Given the description of an element on the screen output the (x, y) to click on. 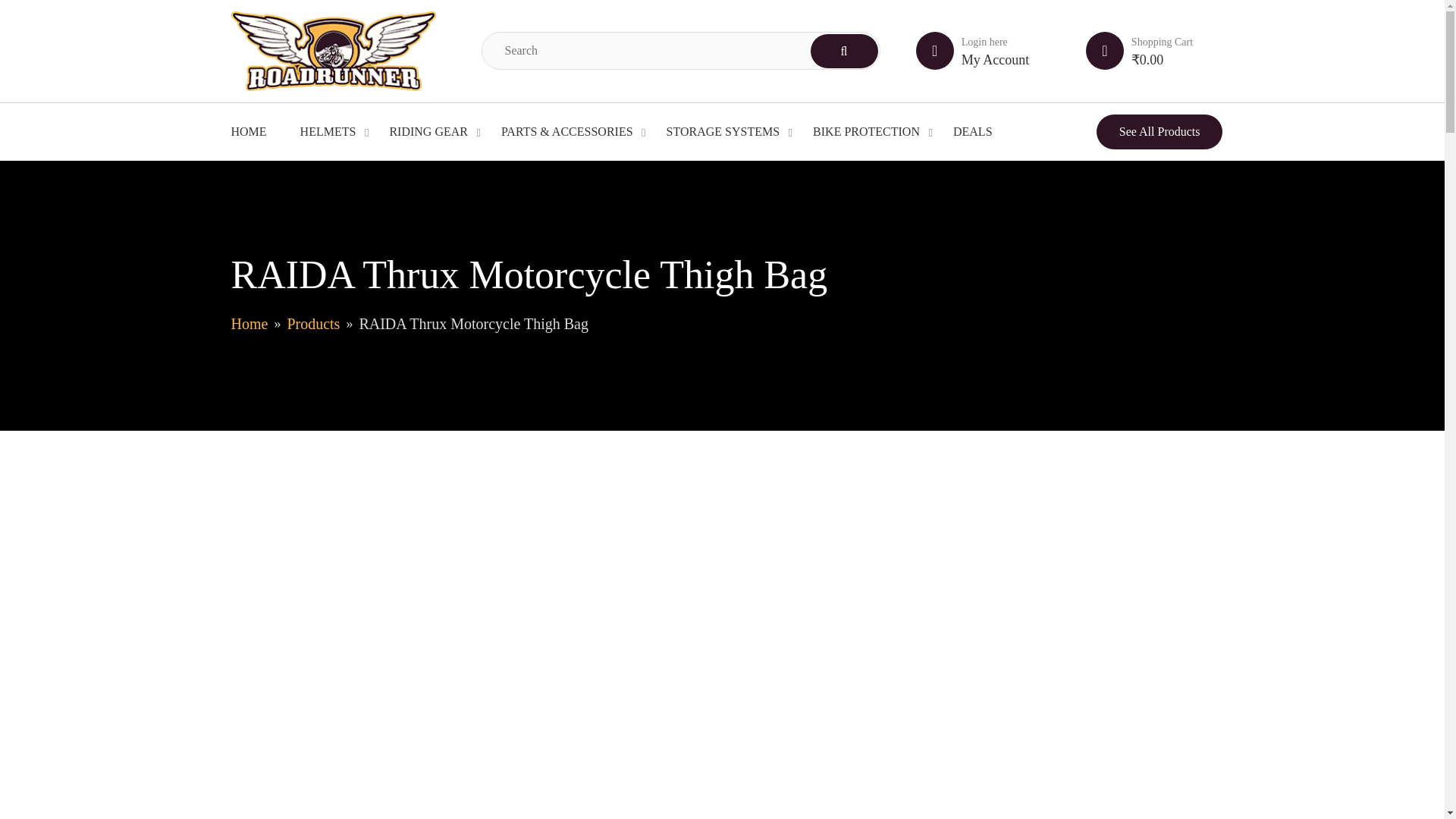
HOME (248, 131)
RIDING GEAR (427, 131)
Log In (967, 315)
HELMETS (327, 131)
